Given the description of an element on the screen output the (x, y) to click on. 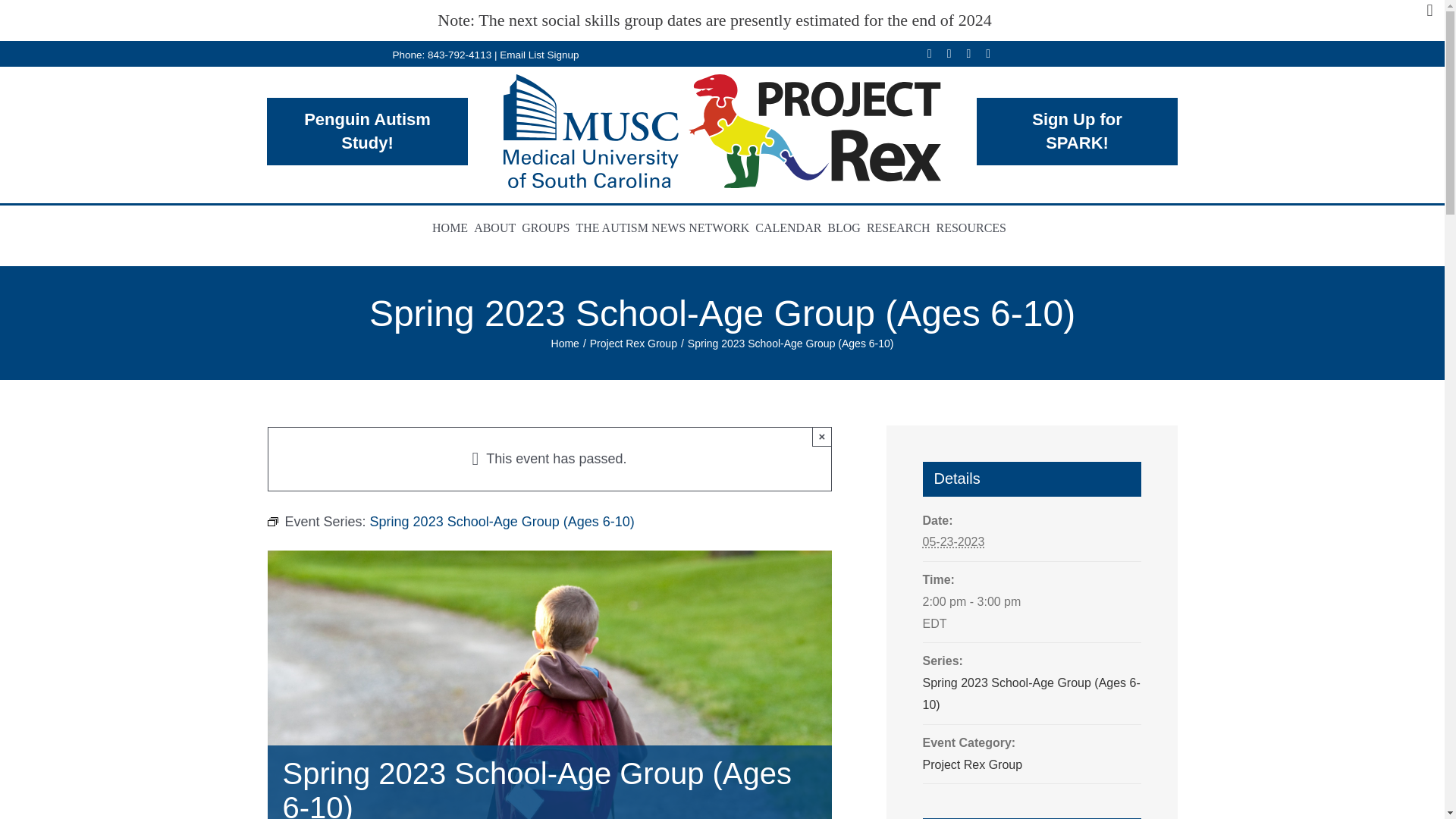
Sign Up for SPARK! (1076, 131)
BLOG (846, 228)
HOME (453, 228)
CALENDAR (791, 228)
THE AUTISM NEWS NETWORK (665, 228)
ABOUT (497, 228)
GROUPS (548, 228)
Email List Signup (538, 53)
2023-05-23 (1030, 613)
Event Series (272, 521)
2023-05-23 (952, 541)
RESOURCES (973, 228)
Penguin Autism Study! (366, 131)
musc-rex-logo-combined-small (721, 131)
RESEARCH (901, 228)
